Given the description of an element on the screen output the (x, y) to click on. 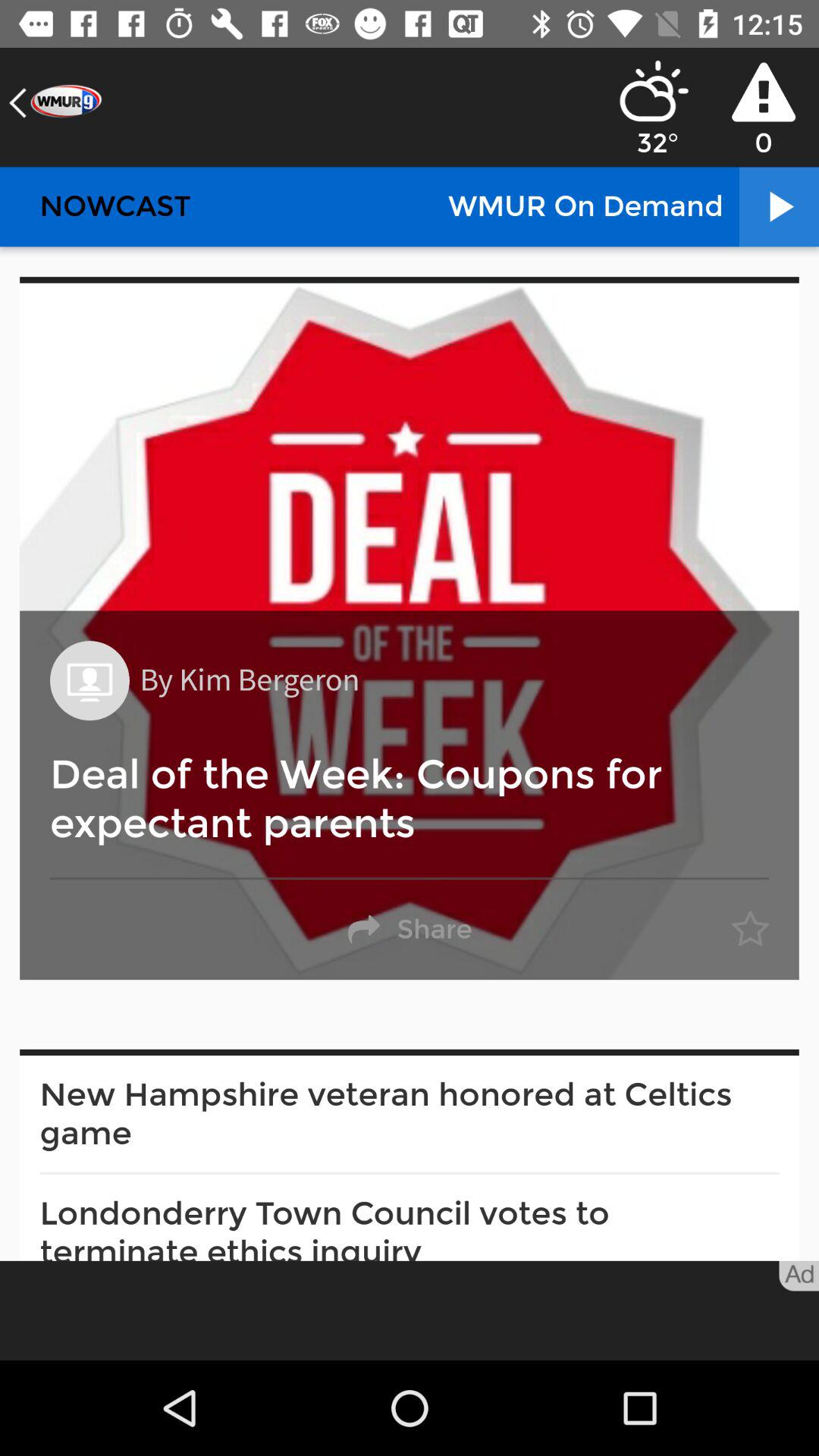
press the item above nowcast item (55, 103)
